Given the description of an element on the screen output the (x, y) to click on. 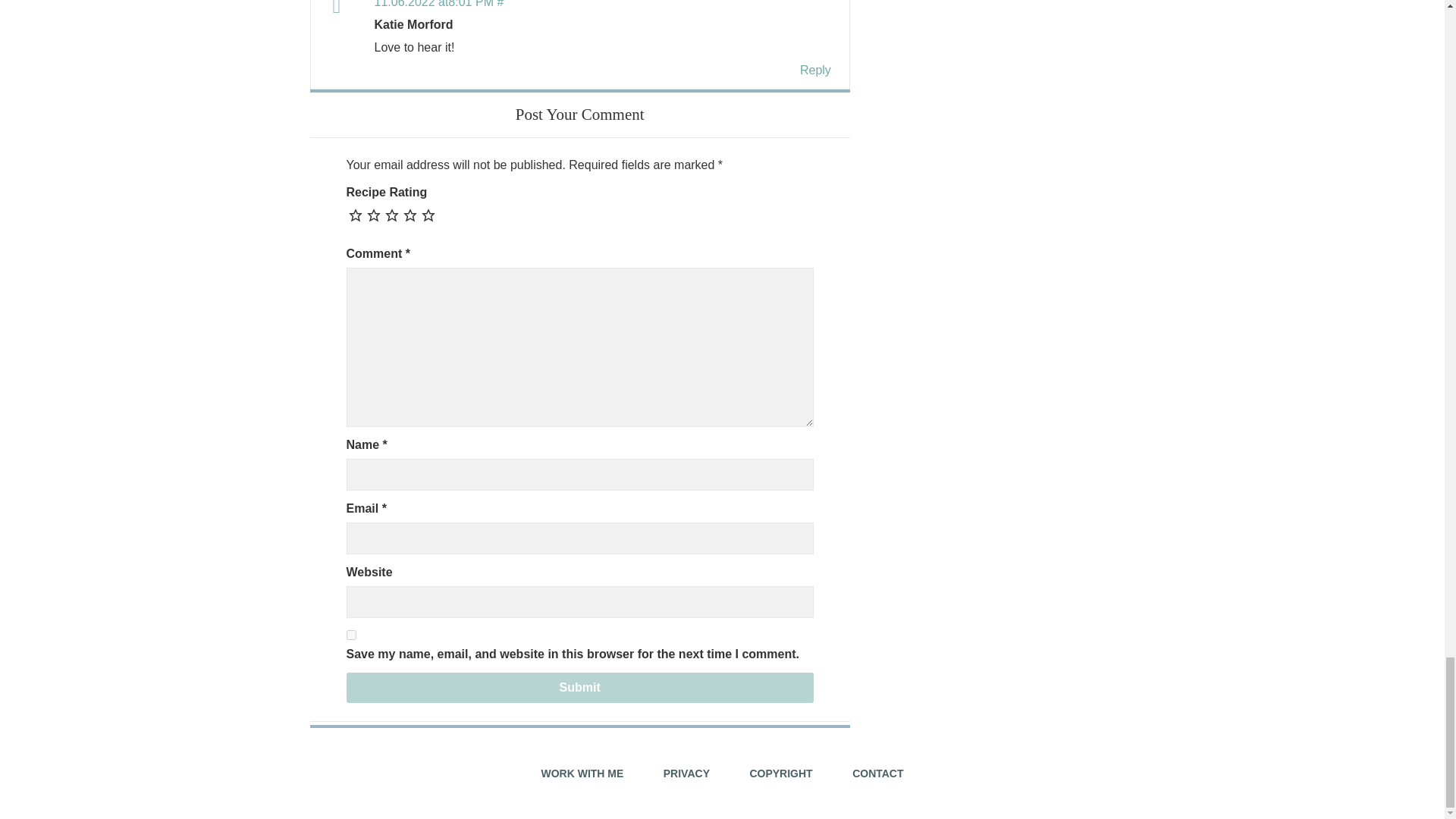
yes (350, 634)
Direct link to this comment (438, 4)
Reply (815, 69)
Submit (579, 687)
Submit (579, 687)
